Given the description of an element on the screen output the (x, y) to click on. 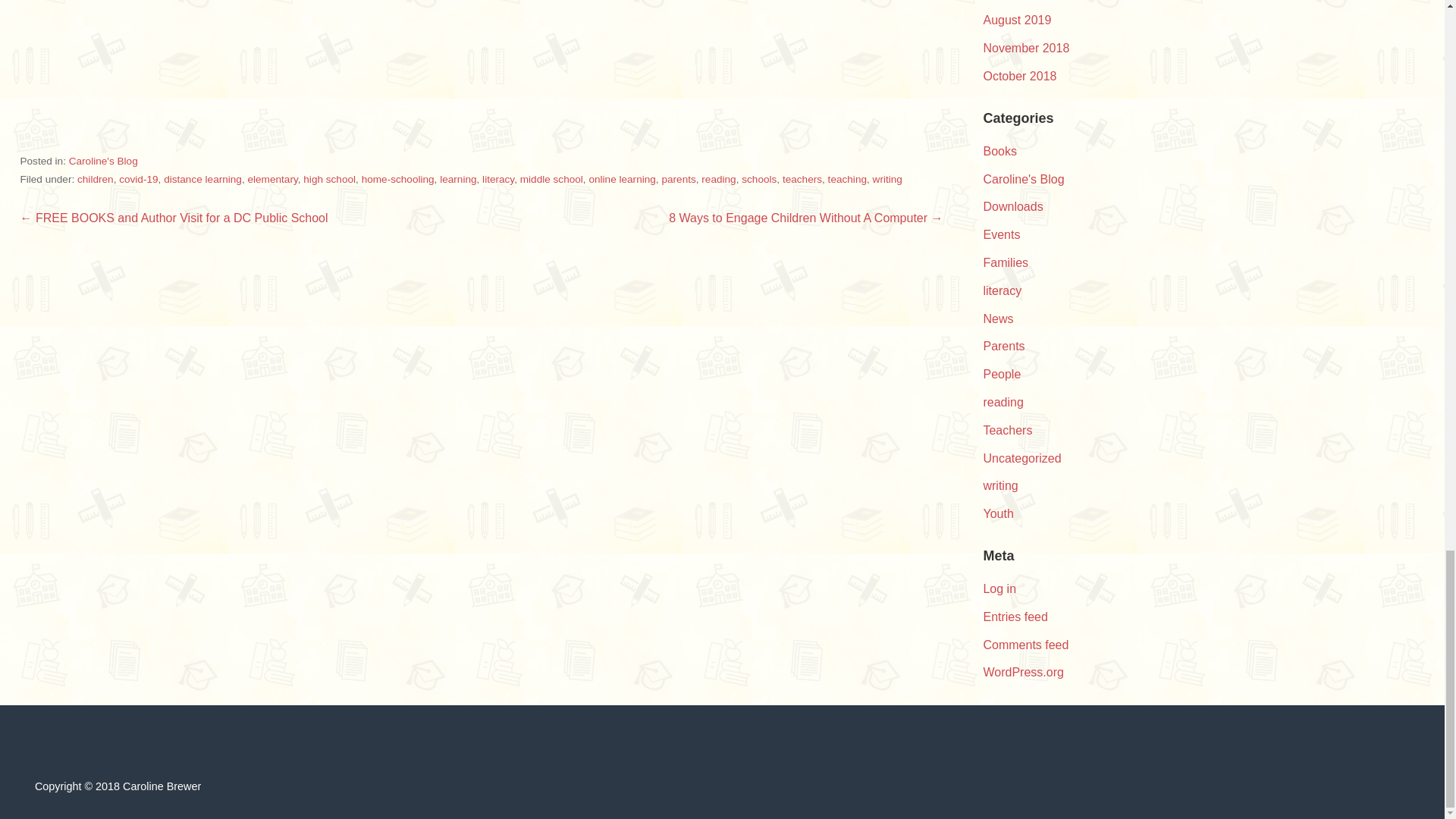
learning (457, 179)
schools (758, 179)
writing (887, 179)
middle school (551, 179)
literacy (497, 179)
children (95, 179)
online learning (621, 179)
reading (718, 179)
teaching (847, 179)
home-schooling (397, 179)
elementary (272, 179)
distance learning (202, 179)
teachers (802, 179)
parents (678, 179)
covid-19 (138, 179)
